Given the description of an element on the screen output the (x, y) to click on. 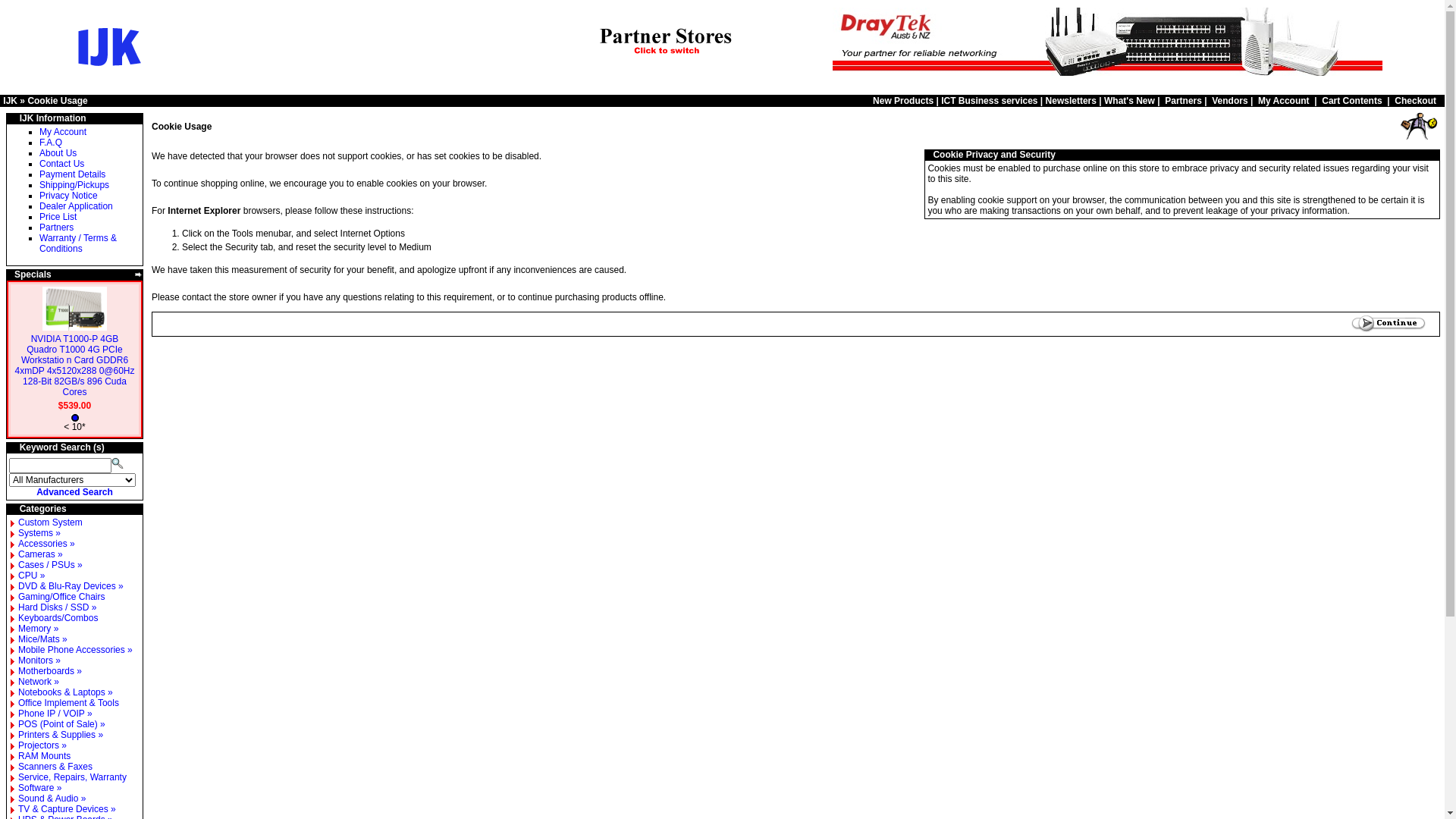
Advanced Search Element type: text (74, 491)
Office Implement & Tools Element type: text (68, 702)
About Us Element type: text (57, 152)
Vendors Element type: text (1229, 100)
Contact Us Element type: text (61, 163)
   Element type: hover (10, 447)
   Element type: hover (10, 508)
Cart Contents Element type: text (1351, 100)
F.A.Q Element type: text (50, 142)
   Element type: hover (928, 154)
Shipping/Pickups Element type: text (74, 184)
My Account Element type: text (1283, 100)
Price List Element type: text (57, 216)
 Search  Element type: hover (118, 461)
Cookie Usage Element type: text (57, 100)
What's New Element type: text (1129, 100)
Partners Element type: text (56, 227)
My Account Element type: text (62, 131)
New Products Element type: text (902, 100)
   Element type: hover (10, 274)
Scanners & Faxes Element type: text (55, 766)
   Element type: hover (1435, 154)
Specials Element type: text (32, 274)
IJK Element type: text (10, 100)
Custom System Element type: text (50, 522)
Dealer Application Element type: text (75, 205)
RAM Mounts Element type: text (44, 755)
Keyboards/Combos Element type: text (57, 617)
 More...  Element type: hover (138, 274)
Warranty / Terms & Conditions Element type: text (77, 243)
Newsletters Element type: text (1070, 100)
Payment Details Element type: text (72, 174)
   Element type: hover (10, 117)
Privacy Notice Element type: text (68, 195)
 Low stock level  Element type: hover (74, 417)
Checkout Element type: text (1415, 100)
 Cookie Usage  Element type: hover (1418, 126)
ICT Business services Element type: text (989, 100)
Partners Element type: text (1182, 100)
Service, Repairs, Warranty Element type: text (72, 776)
 Continue  Element type: hover (1388, 323)
Gaming/Office Chairs Element type: text (61, 596)
